Given the description of an element on the screen output the (x, y) to click on. 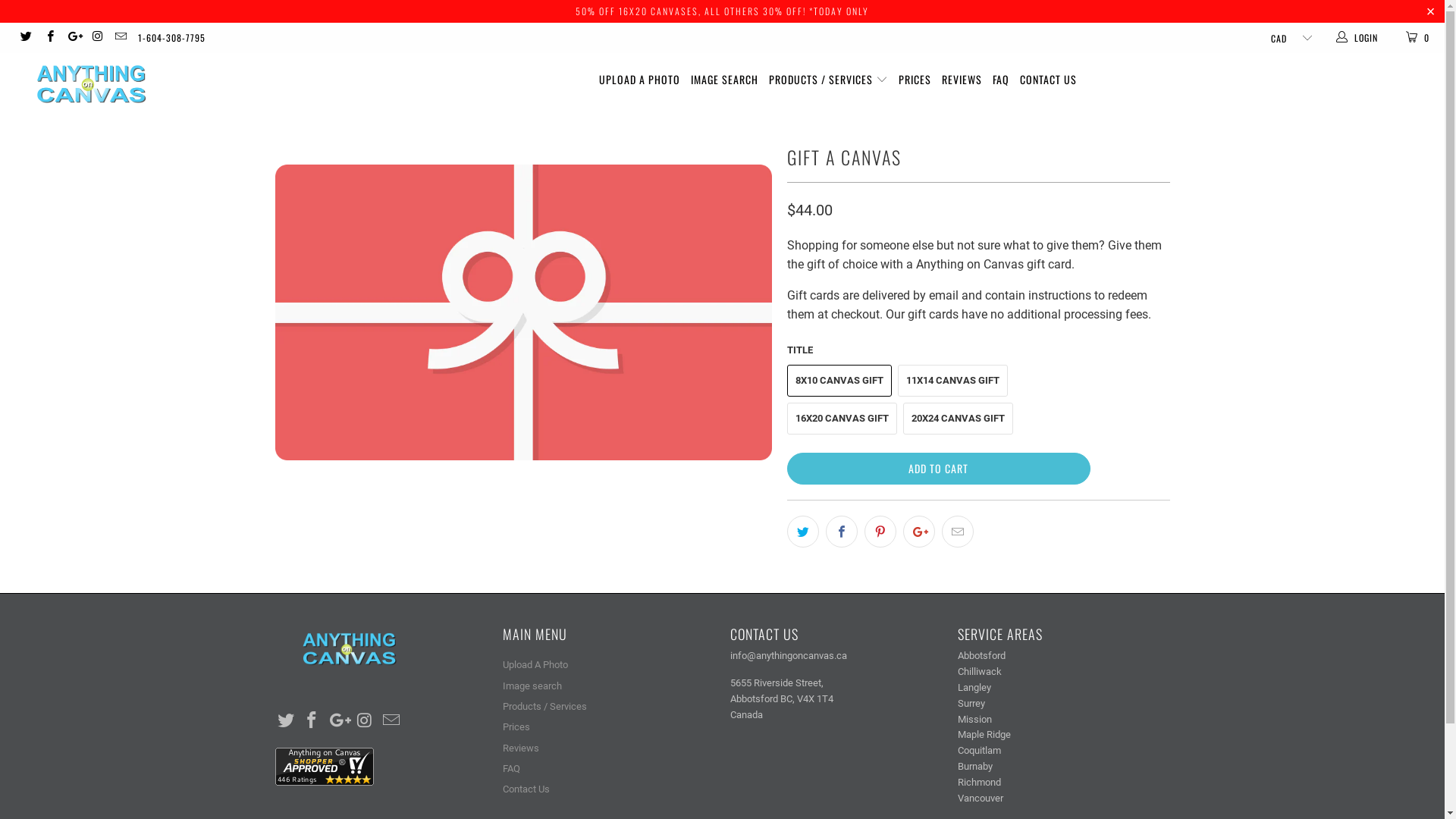
Products / Services Element type: text (544, 706)
FAQ Element type: text (510, 768)
Share this on Pinterest Element type: hover (880, 531)
Prices Element type: text (515, 726)
Anything on Canvas on Google+ Element type: hover (72, 37)
LOGIN Element type: text (1357, 37)
REVIEWS Element type: text (961, 79)
Share this on Twitter Element type: hover (803, 531)
Anything on Canvas Element type: hover (123, 85)
Share this on Google+ Element type: hover (918, 531)
Anything on Canvas on Twitter Element type: hover (24, 37)
Share this on Facebook Element type: hover (840, 531)
PRICES Element type: text (914, 79)
Reviews Element type: text (520, 747)
CONTACT US Element type: text (1047, 79)
Email Anything on Canvas Element type: hover (390, 721)
1-604-308-7795 Element type: text (171, 37)
Anything on Canvas on Facebook Element type: hover (312, 721)
Anything on Canvas on Instagram Element type: hover (365, 721)
PRODUCTS / SERVICES Element type: text (828, 79)
Anything on Canvas on Google+ Element type: hover (338, 721)
Email Anything on Canvas Element type: hover (119, 37)
Contact Us Element type: text (525, 788)
Anything on Canvas on Facebook Element type: hover (48, 37)
Anything on Canvas on Twitter Element type: hover (285, 721)
Anything on Canvas on Instagram Element type: hover (96, 37)
FAQ Element type: text (1000, 79)
Upload A Photo Element type: text (534, 664)
Image search Element type: text (531, 685)
0 Element type: text (1418, 37)
ADD TO CART Element type: text (938, 468)
Email this to a friend Element type: hover (957, 531)
UPLOAD A PHOTO Element type: text (639, 79)
IMAGE SEARCH Element type: text (724, 79)
